Given the description of an element on the screen output the (x, y) to click on. 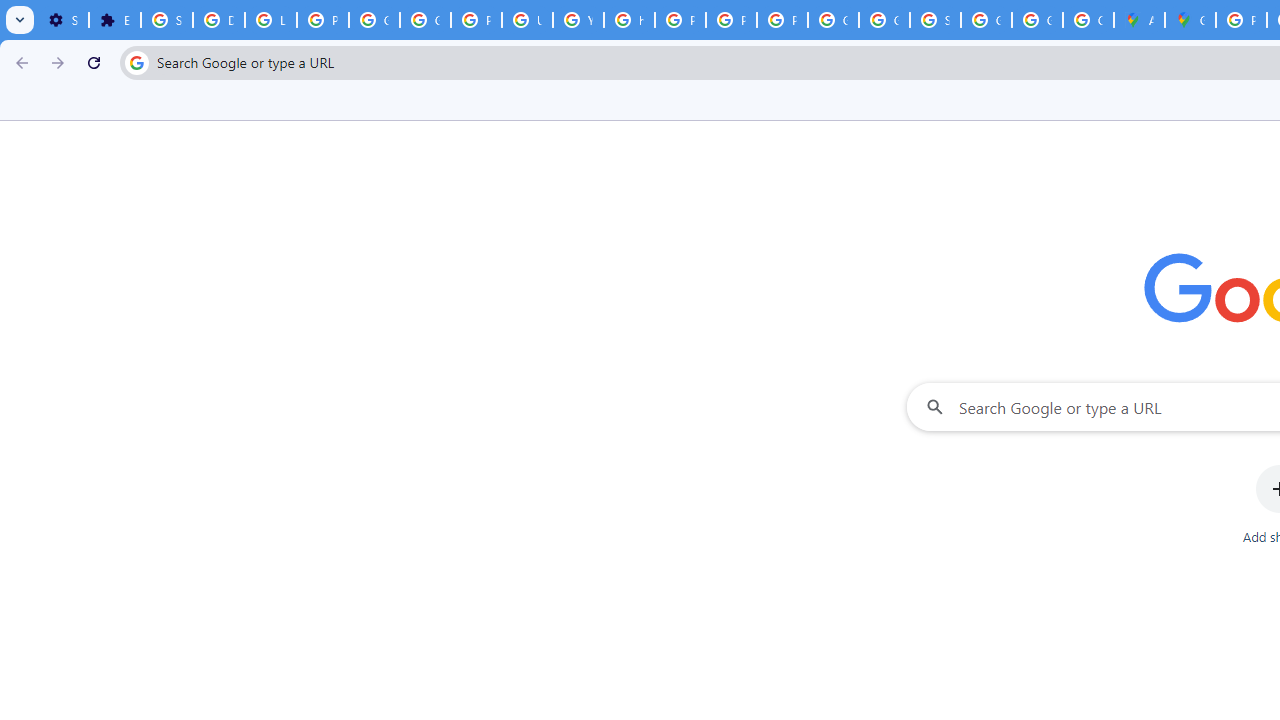
Google Maps (1189, 20)
Settings - On startup (63, 20)
Delete photos & videos - Computer - Google Photos Help (218, 20)
Google Account Help (424, 20)
